Given the description of an element on the screen output the (x, y) to click on. 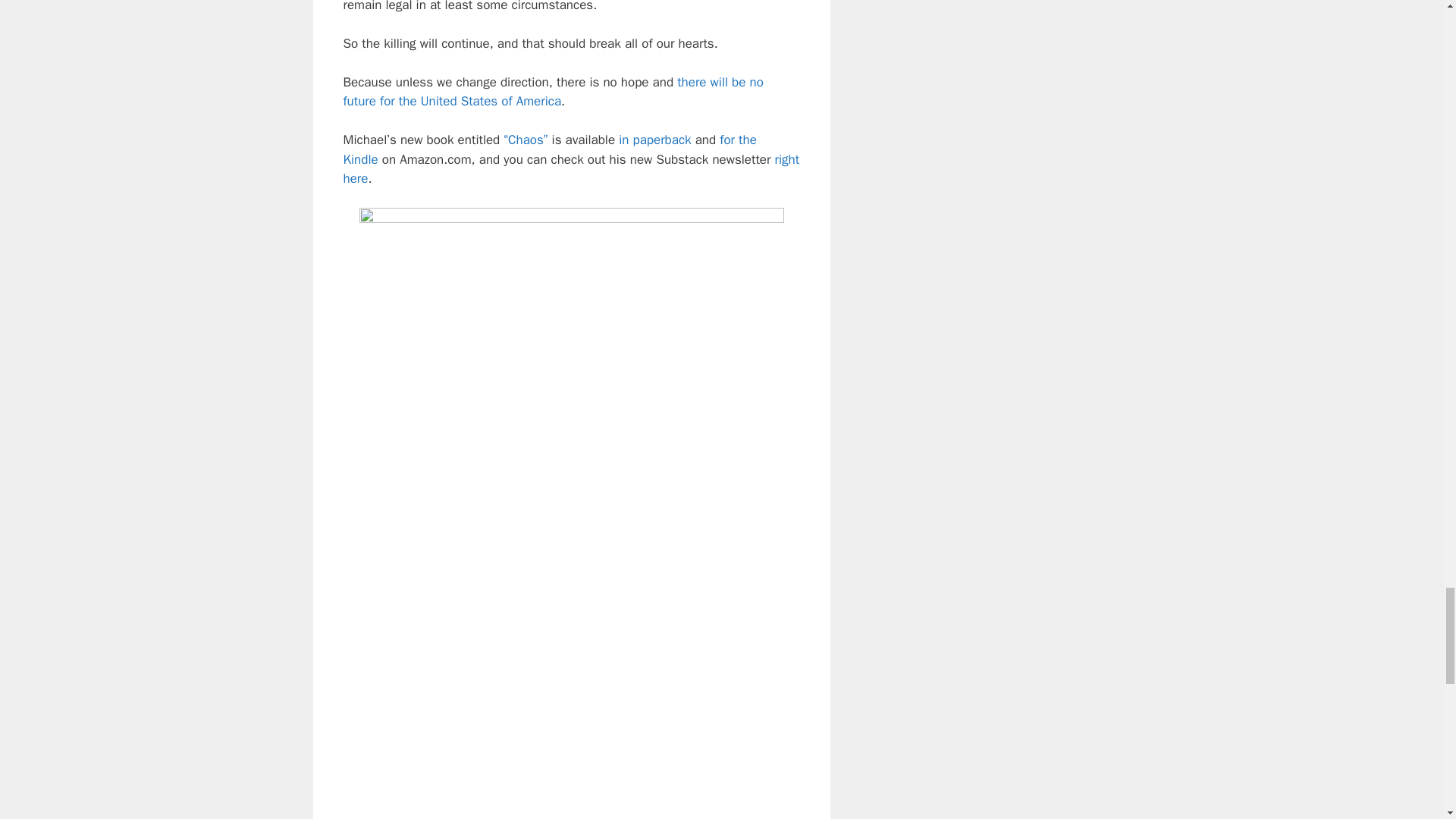
right here (570, 169)
there will be no future for the United States of America (552, 91)
for the Kindle (548, 149)
right here (570, 169)
for the Kindle (548, 149)
in paperback (654, 139)
in paperback (654, 139)
